Given the description of an element on the screen output the (x, y) to click on. 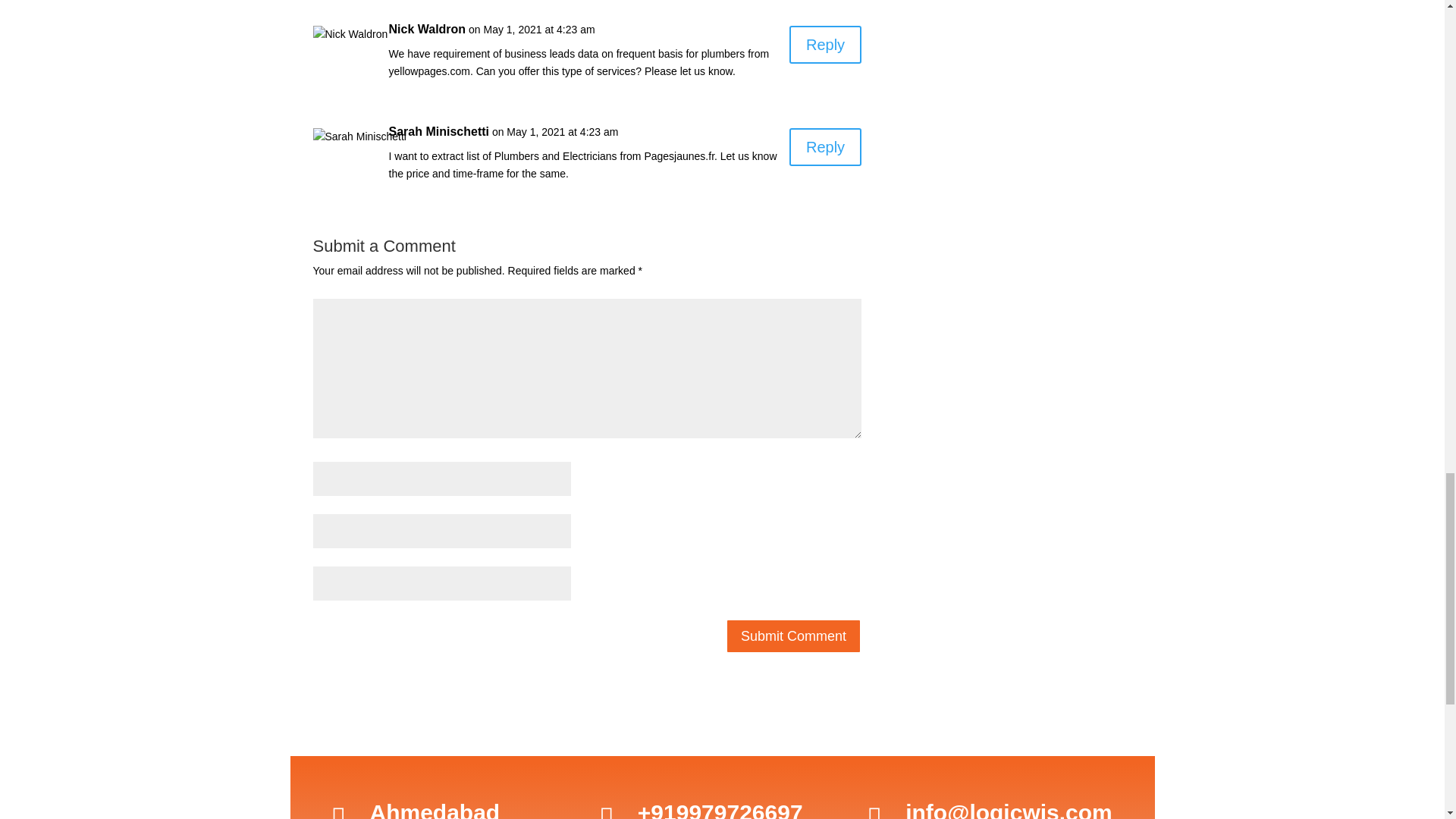
Reply (825, 146)
Submit Comment (793, 635)
Submit Comment (793, 635)
Reply (825, 44)
